Given the description of an element on the screen output the (x, y) to click on. 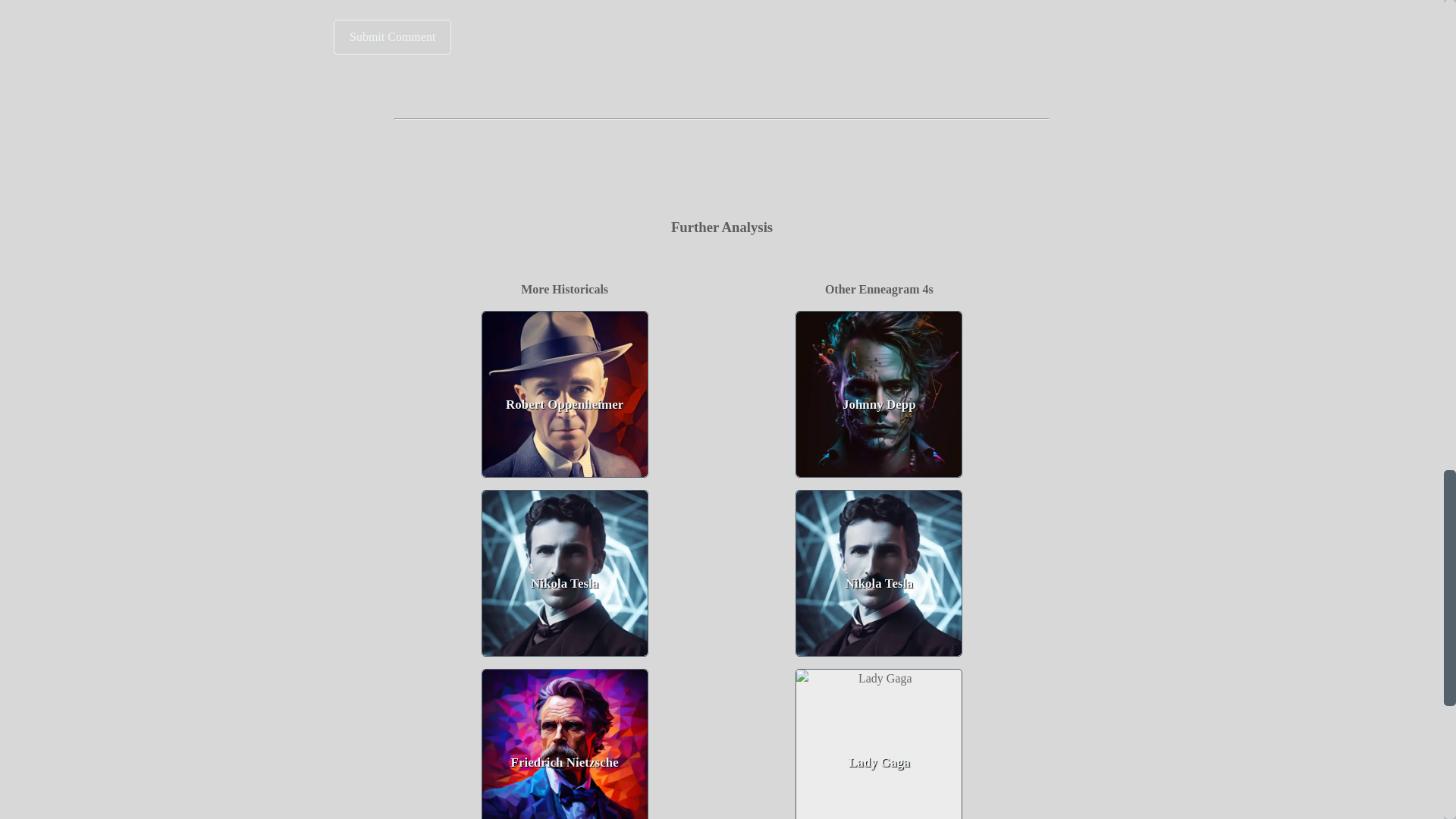
You only YOLO once (392, 36)
Nikola Tesla (878, 572)
Nikola Tesla (878, 573)
Lady Gaga (878, 744)
Johnny Depp (878, 394)
Lady Gaga (878, 744)
Robert Oppenheimer (564, 394)
Nikola Tesla (564, 572)
Nikola Tesla (564, 573)
Friedrich Nietzsche (564, 744)
